Given the description of an element on the screen output the (x, y) to click on. 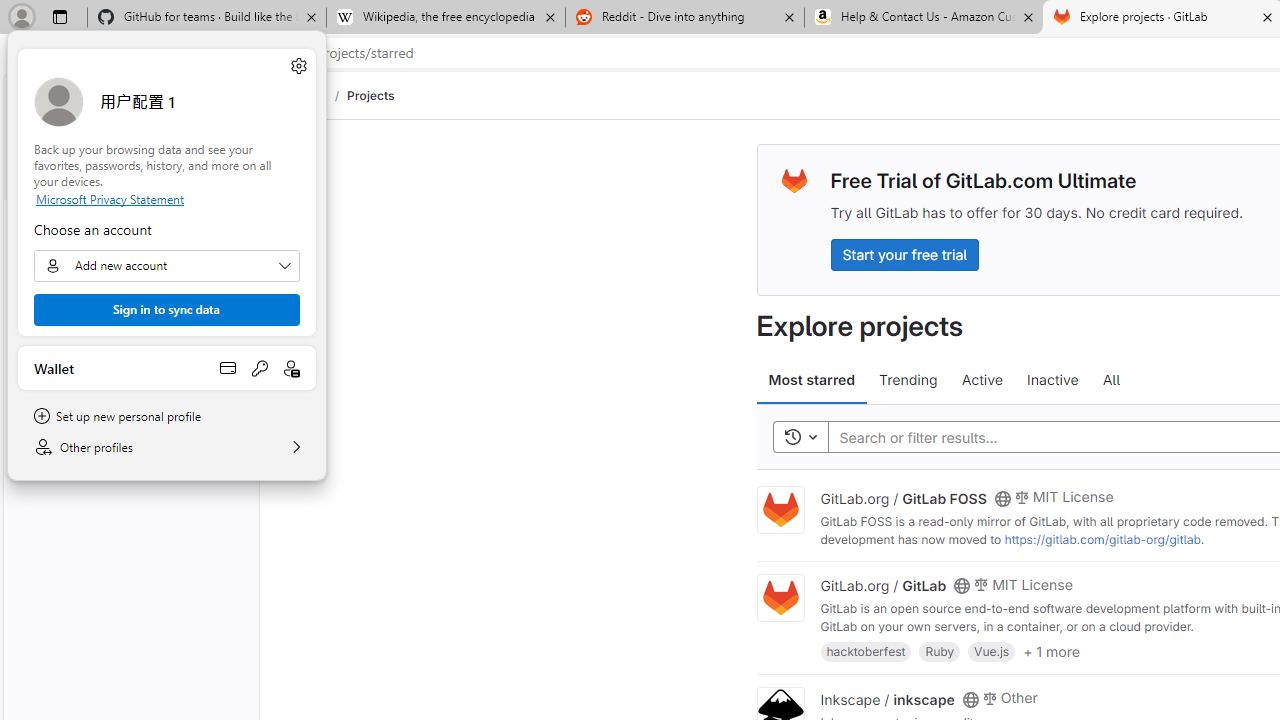
https://gitlab.com/gitlab-org/gitlab (1101, 539)
